Given the description of an element on the screen output the (x, y) to click on. 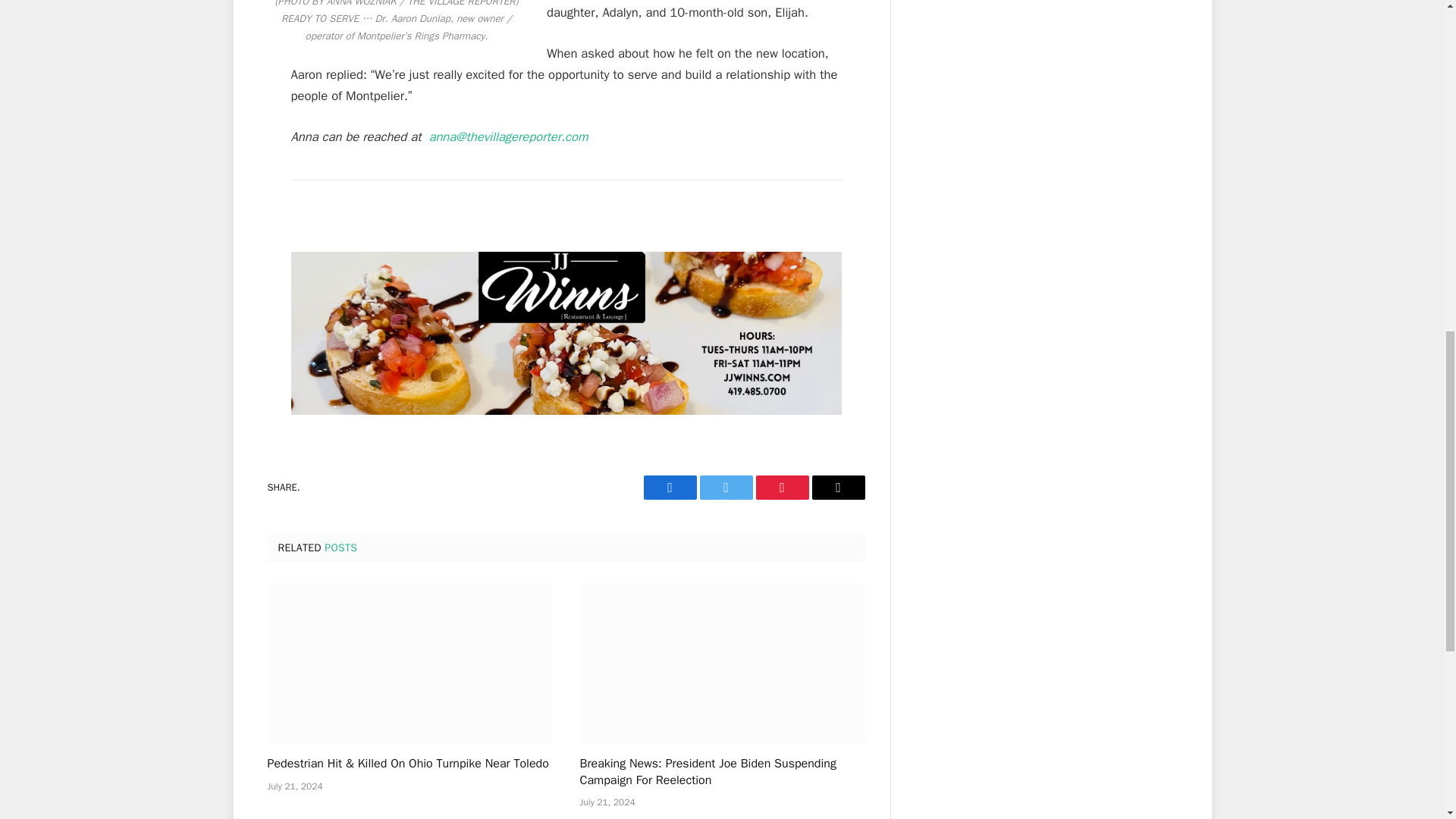
Facebook (669, 486)
Share on Facebook (669, 486)
Share on Pinterest (781, 486)
Share via Email (837, 486)
